Given the description of an element on the screen output the (x, y) to click on. 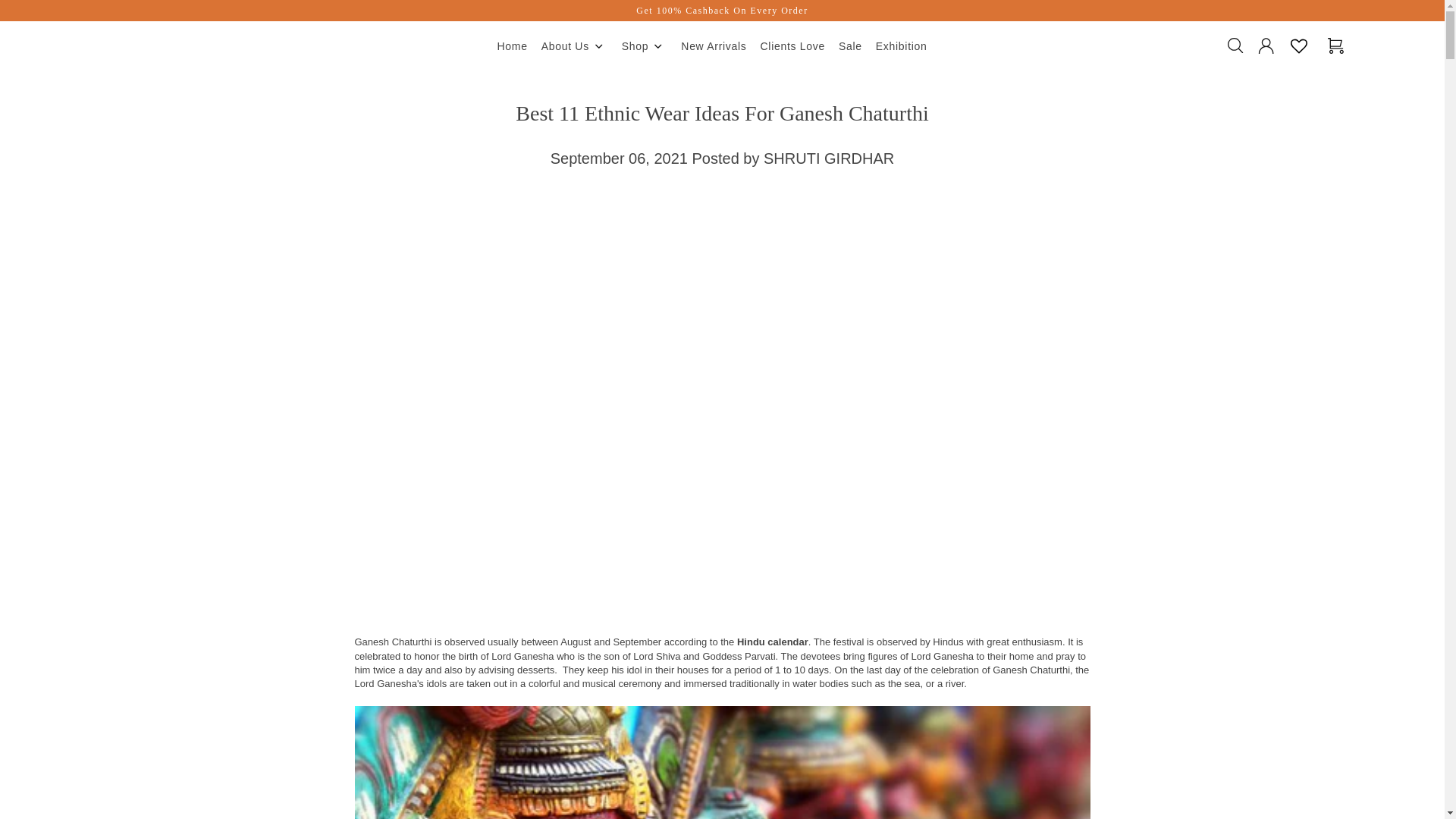
About Us (574, 46)
Shop (644, 46)
